Given the description of an element on the screen output the (x, y) to click on. 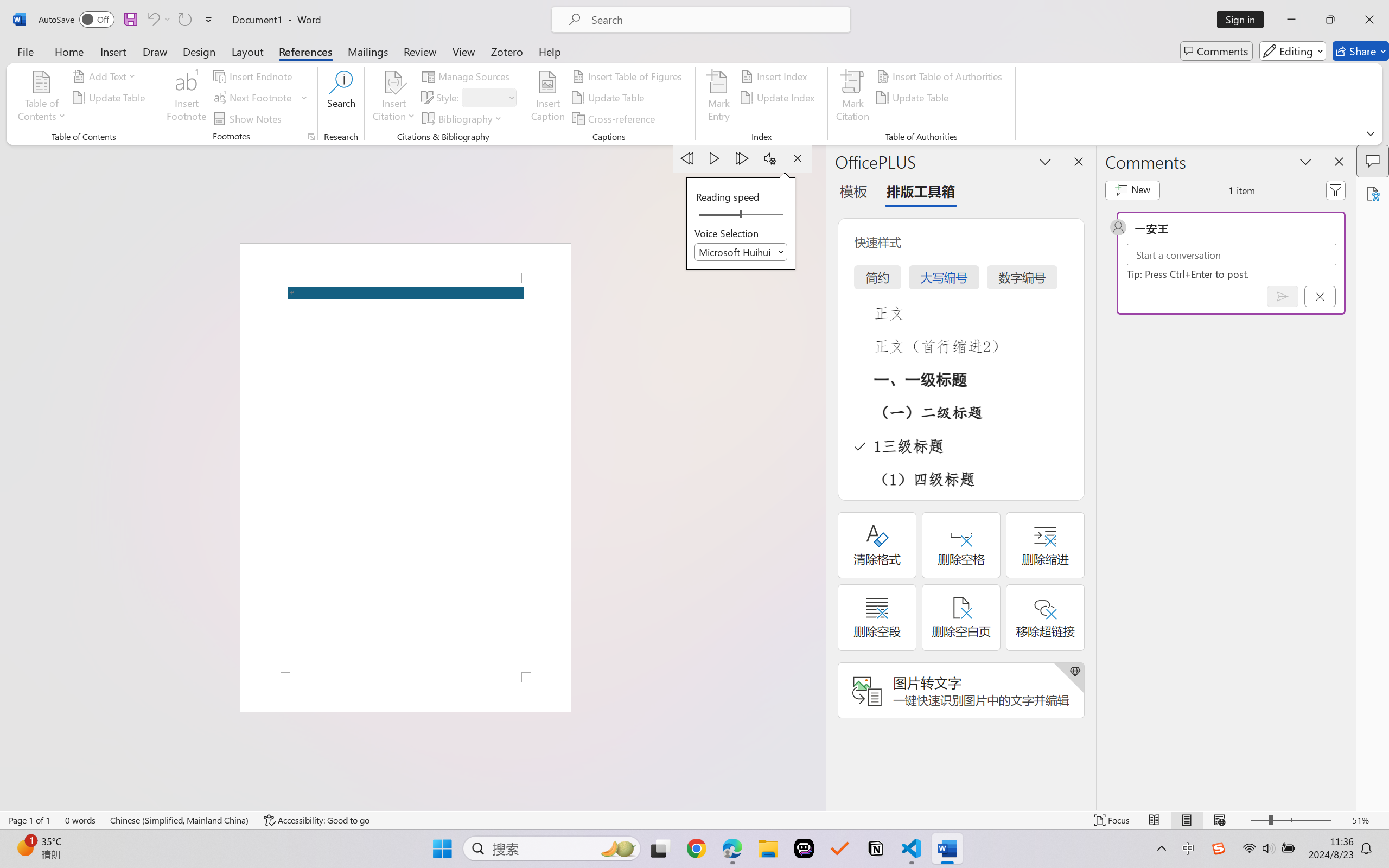
Mark Citation... (852, 97)
Update Table (914, 97)
Add Text (106, 75)
Voice Selection (740, 252)
Reading speed (740, 214)
